Given the description of an element on the screen output the (x, y) to click on. 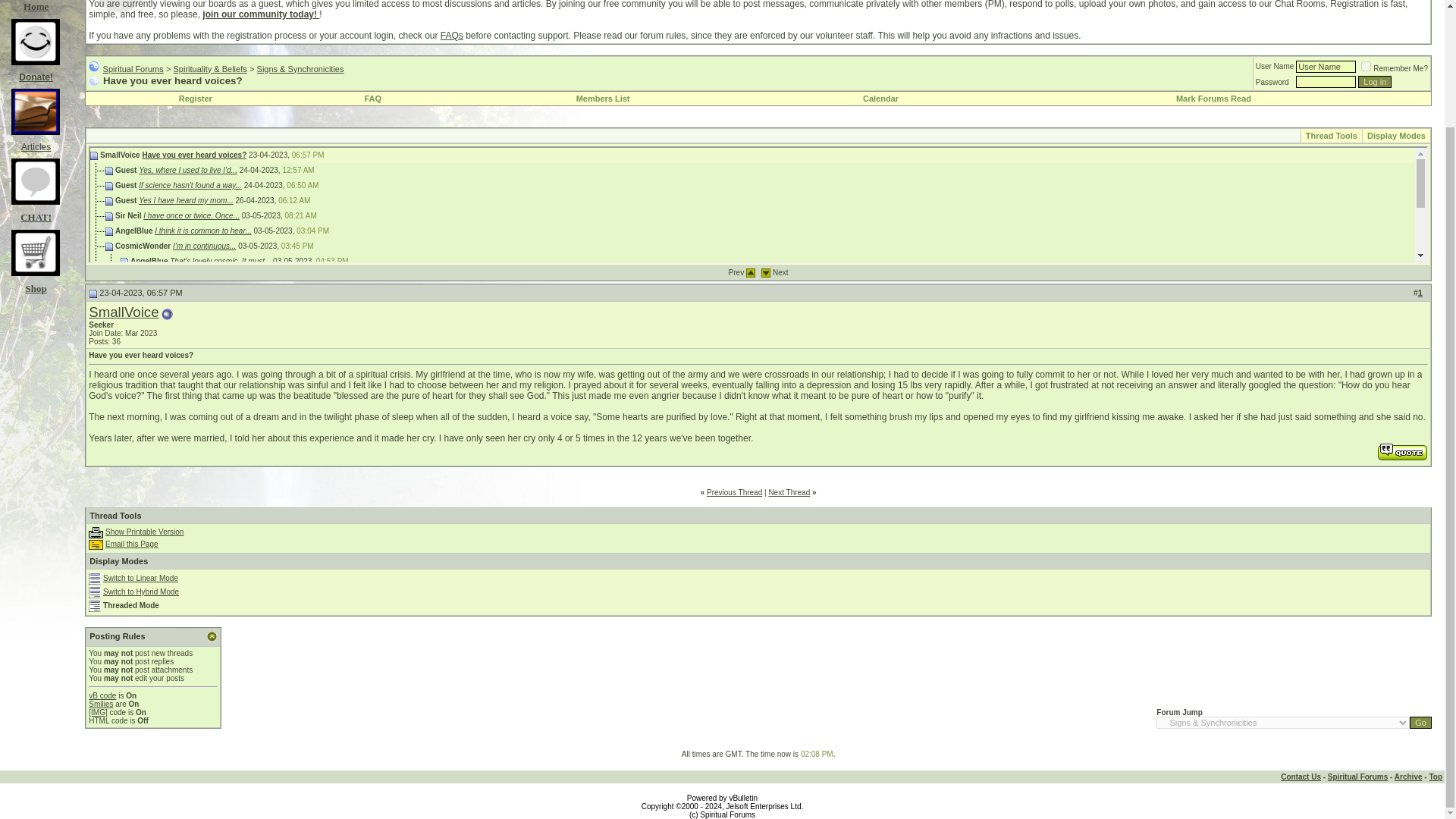
FAQ (372, 98)
Go Back (94, 66)
join our community today! (260, 14)
Show Printable Version (95, 532)
Spiritual Forums (133, 67)
Have you ever heard voices? (199, 321)
Shop (35, 282)
That's lovely cosmic. It must... (220, 261)
Thread Tools (1331, 135)
If science hasn't found a way... (189, 184)
